Given the description of an element on the screen output the (x, y) to click on. 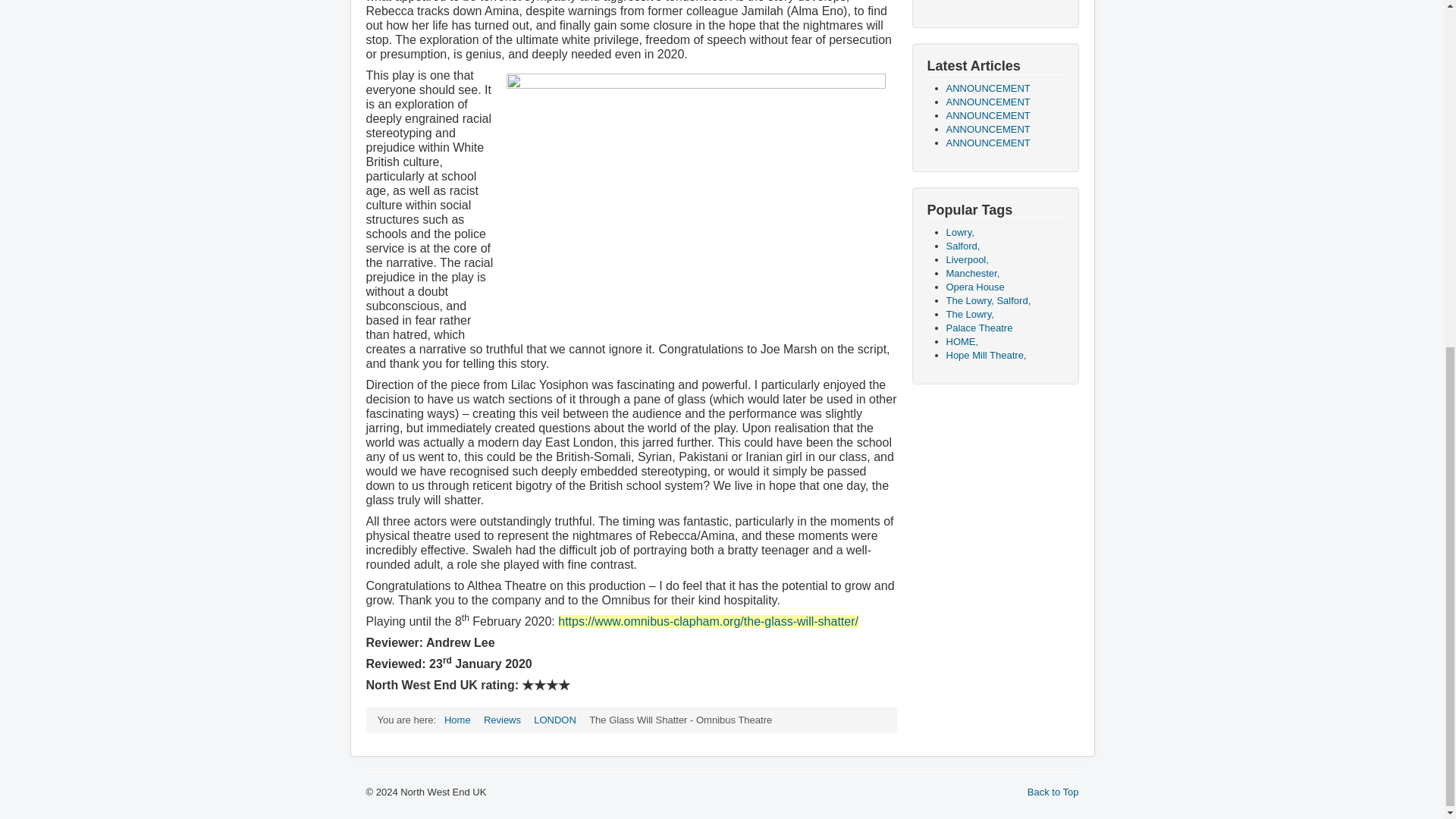
Home (457, 719)
Reviews (502, 719)
LONDON (555, 719)
